Given the description of an element on the screen output the (x, y) to click on. 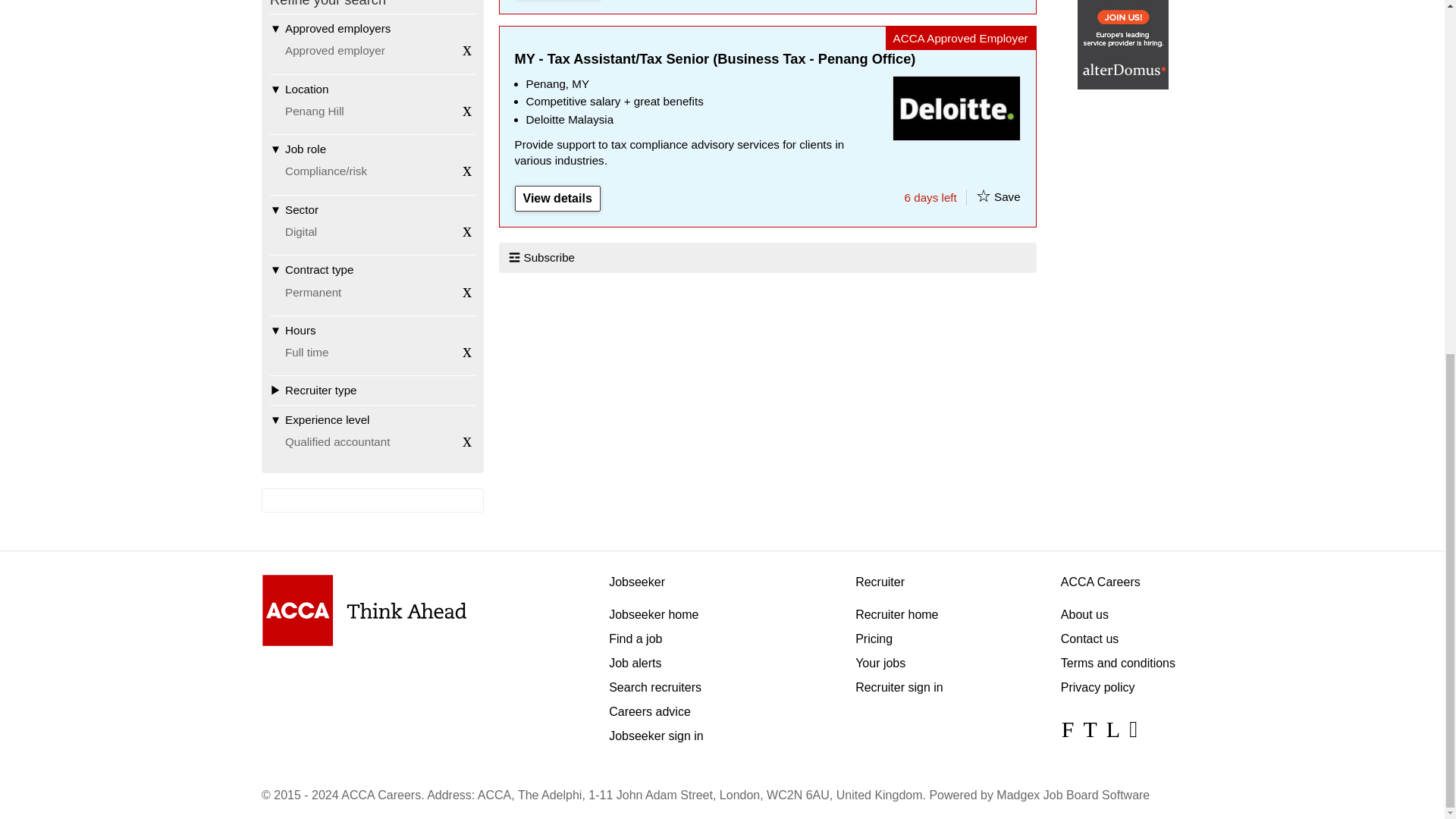
Job role (372, 148)
Add to shortlist (983, 195)
Location (372, 88)
Approved employers (372, 27)
